Given the description of an element on the screen output the (x, y) to click on. 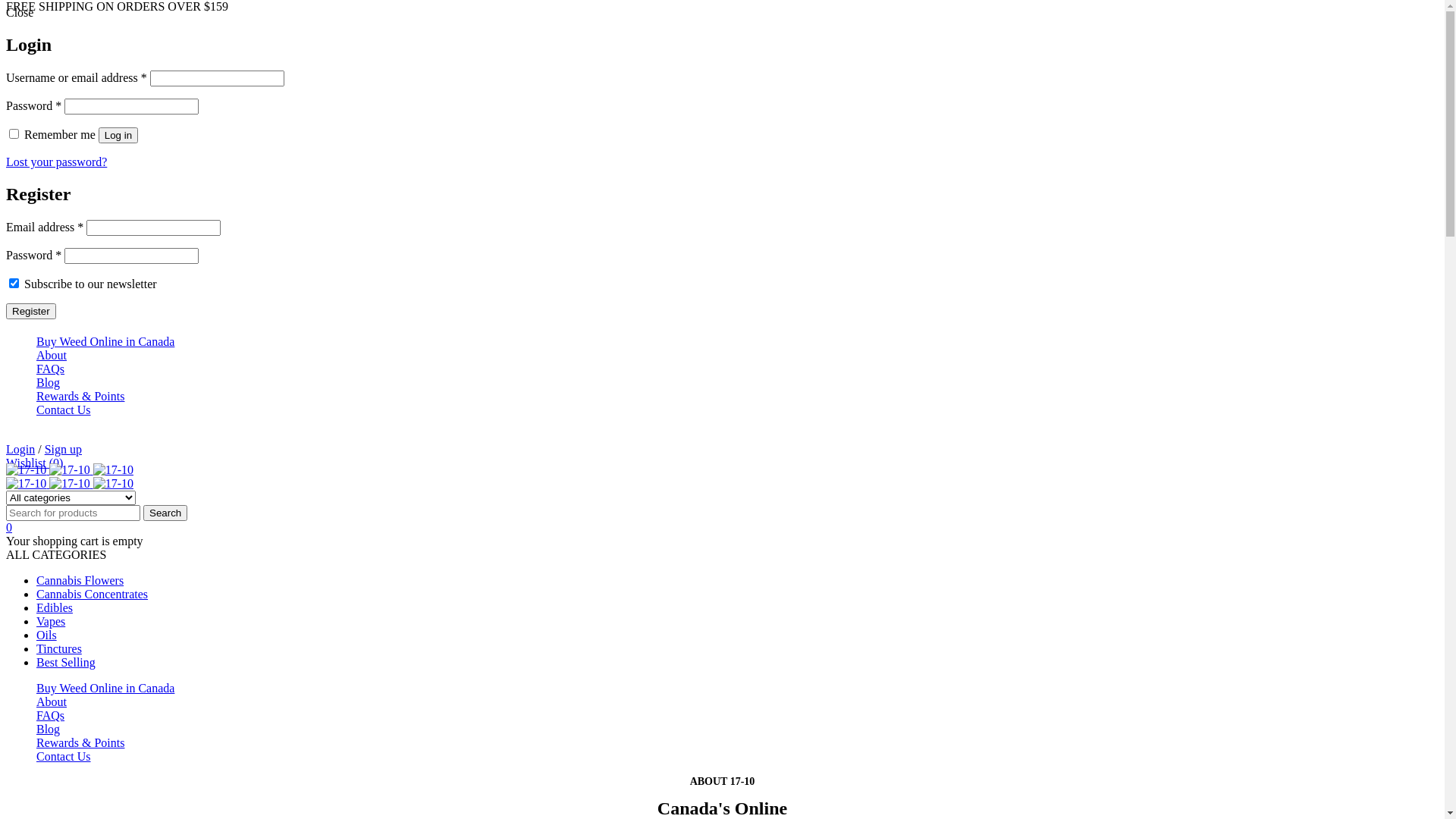
17-10 Element type: hover (26, 483)
17-10 Element type: hover (26, 469)
Buy Weed Online in Canada Element type: text (105, 687)
Login Element type: text (20, 448)
0 Element type: text (9, 526)
Cannabis Flowers Element type: text (79, 580)
17-10 Element type: hover (69, 483)
Contact Us Element type: text (63, 755)
Sign up Element type: text (62, 448)
Cannabis Concentrates Element type: text (91, 593)
FAQs Element type: text (50, 368)
Edibles Element type: text (54, 607)
Search Element type: hover (165, 512)
Vapes Element type: text (50, 621)
Wishlist (0) Element type: text (34, 462)
Search Element type: text (165, 512)
Contact Us Element type: text (63, 409)
FAQs Element type: text (50, 715)
About Element type: text (51, 354)
Lost your password? Element type: text (56, 161)
17-10 Element type: hover (113, 469)
Rewards & Points Element type: text (80, 395)
Best Selling Element type: text (65, 661)
Buy Weed Online in Canada Element type: text (105, 341)
17-10 Element type: hover (69, 469)
Blog Element type: text (47, 382)
Blog Element type: text (47, 728)
Tinctures Element type: text (58, 648)
Rewards & Points Element type: text (80, 742)
Oils Element type: text (46, 634)
About Element type: text (51, 701)
Register Element type: text (31, 311)
Log in Element type: text (118, 135)
17-10 Element type: hover (113, 483)
